Given the description of an element on the screen output the (x, y) to click on. 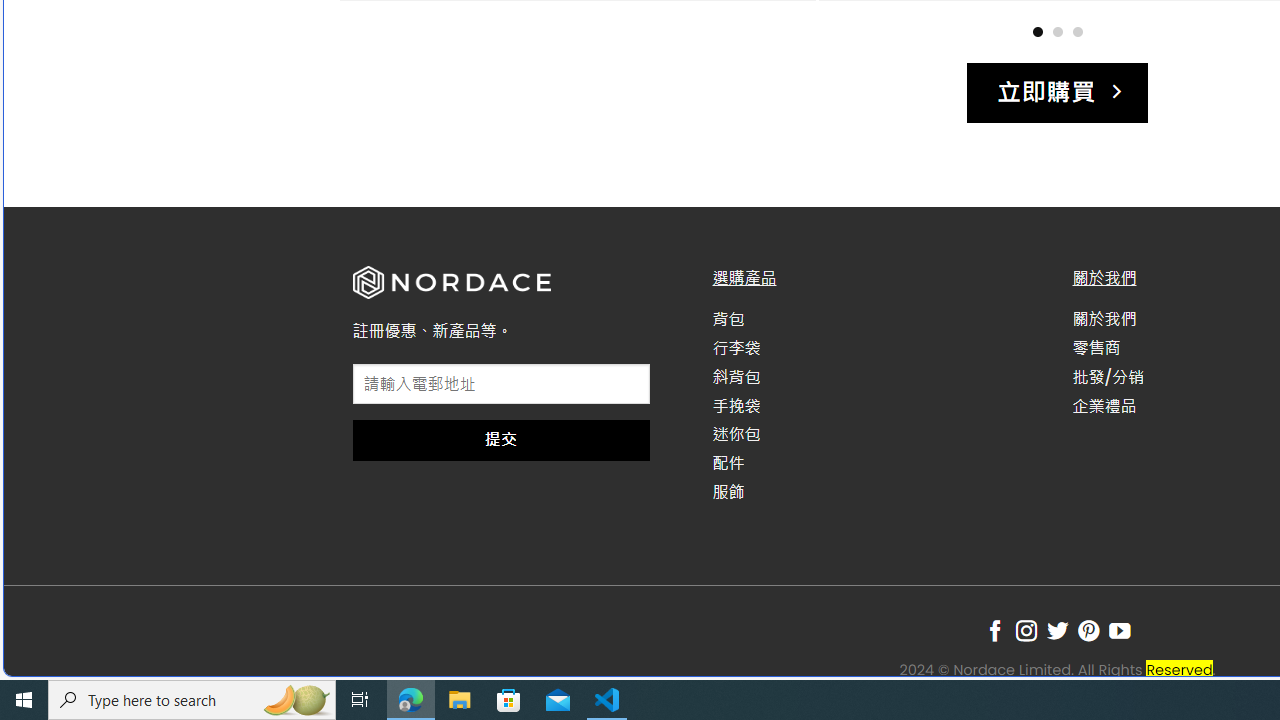
Page dot 3 (1077, 30)
Follow on Pinterest (1088, 631)
Follow on Facebook (995, 631)
